Given the description of an element on the screen output the (x, y) to click on. 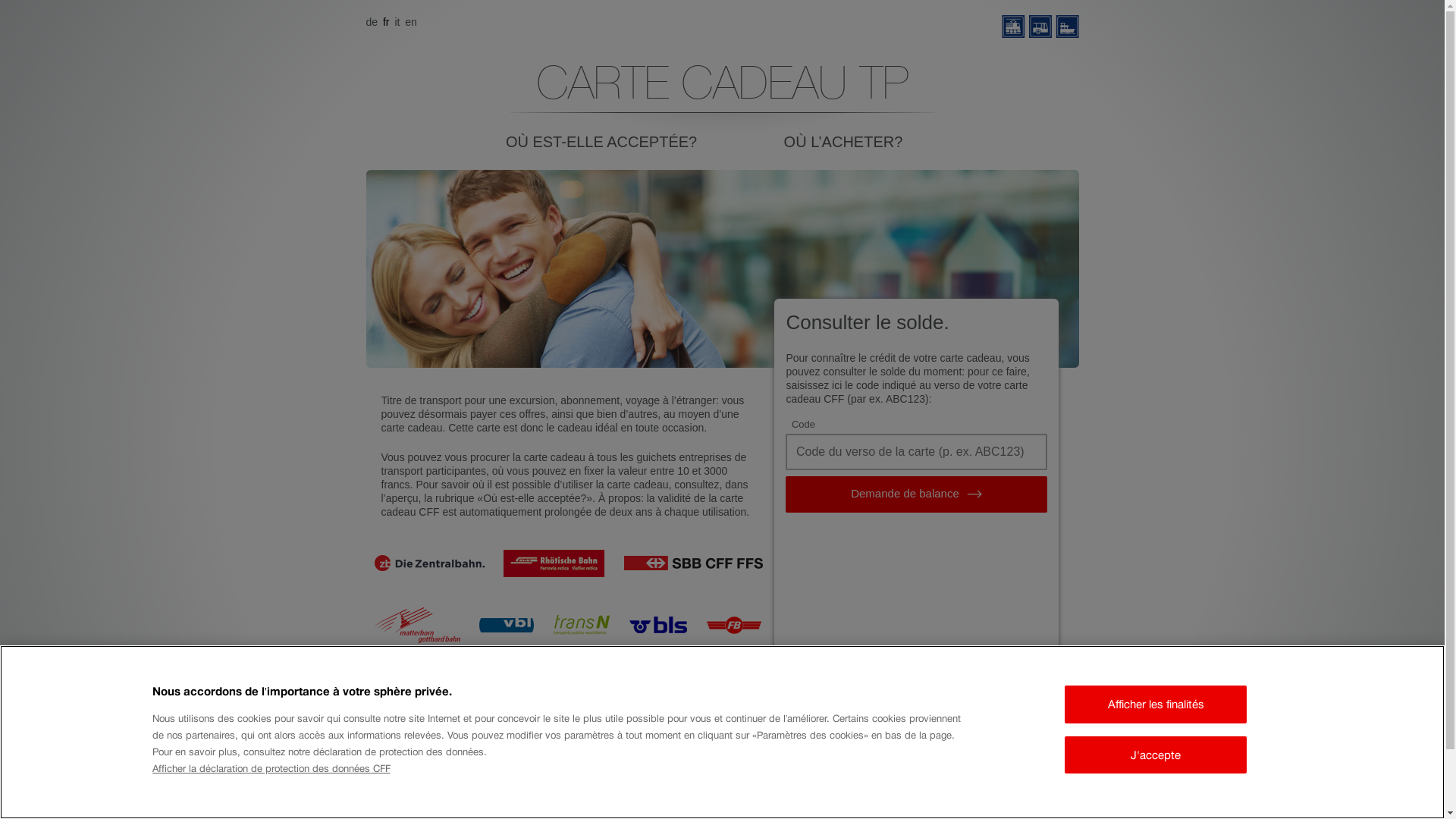
CG Element type: text (683, 809)
fr Element type: text (387, 21)
en Element type: text (410, 21)
de Element type: text (372, 21)
it Element type: text (398, 21)
IMPRESSUM Element type: text (811, 809)
FAQ Element type: text (735, 809)
J'accepte Element type: text (1155, 754)
